Given the description of an element on the screen output the (x, y) to click on. 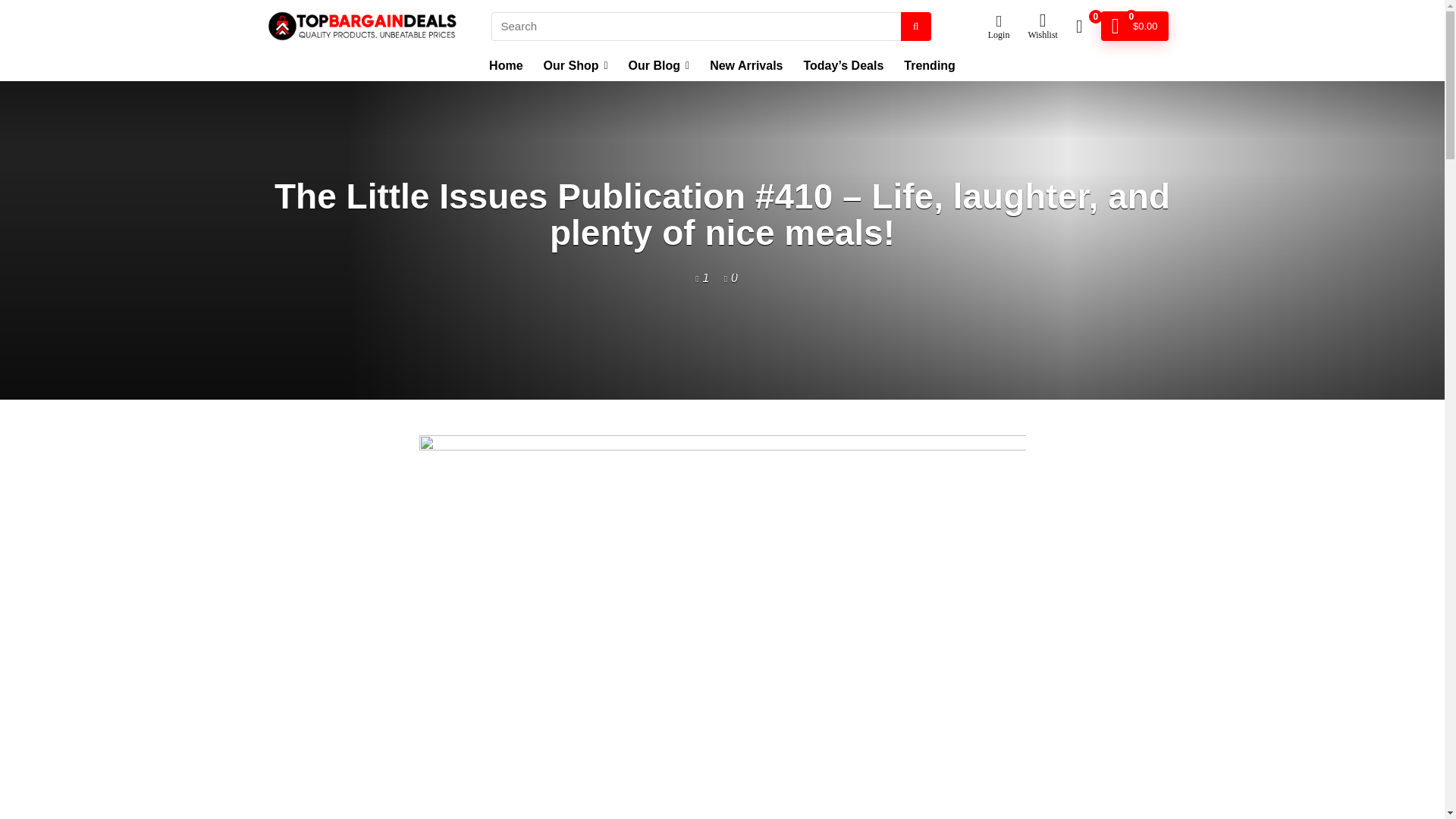
Home (505, 66)
Our Shop (575, 66)
